Given the description of an element on the screen output the (x, y) to click on. 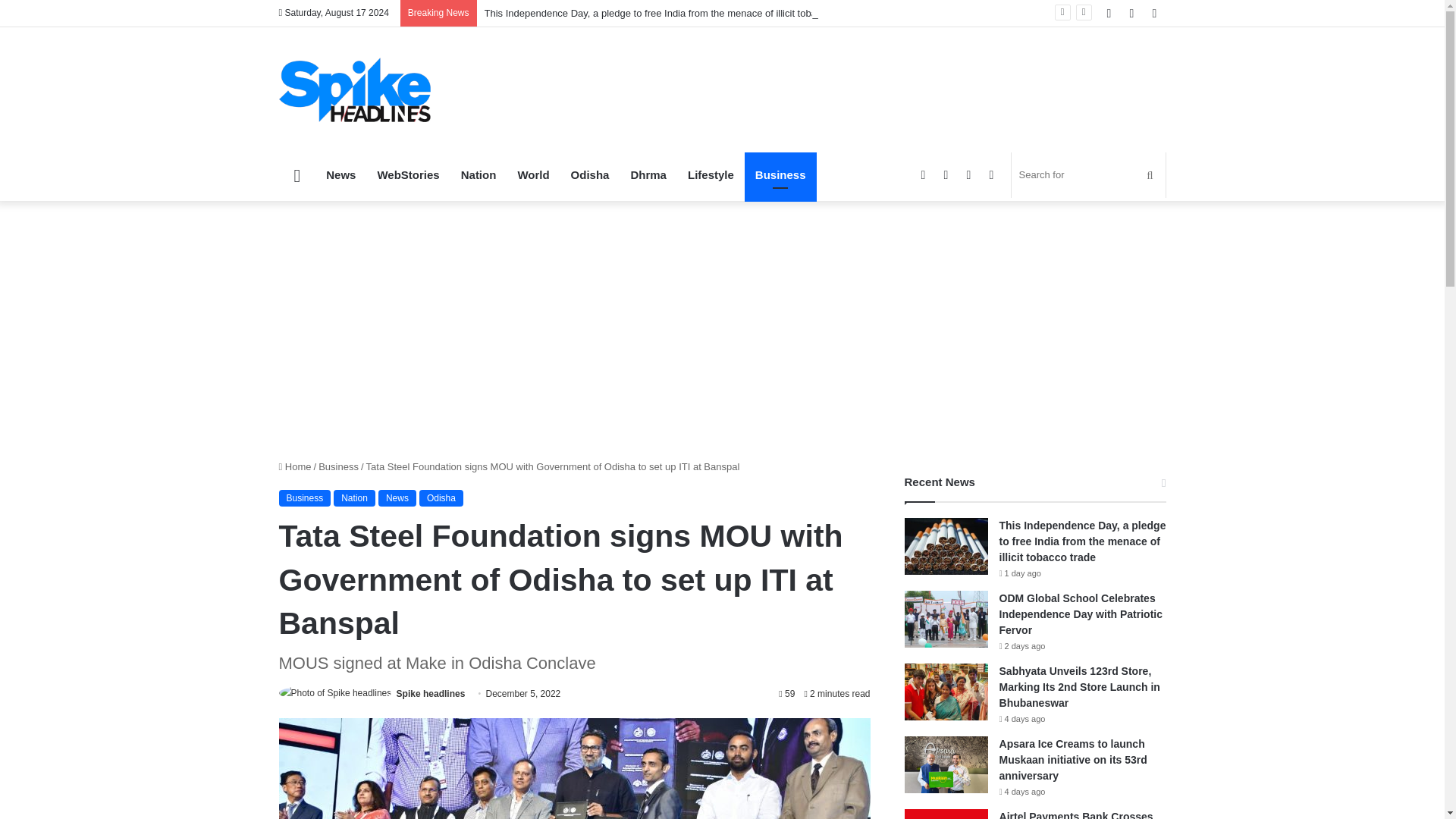
Search for (1088, 175)
Lifestyle (710, 175)
World (532, 175)
Spike headlines (430, 693)
Business (305, 497)
Dhrma (648, 175)
News (397, 497)
Nation (354, 497)
Business (338, 466)
Odisha (590, 175)
